Given the description of an element on the screen output the (x, y) to click on. 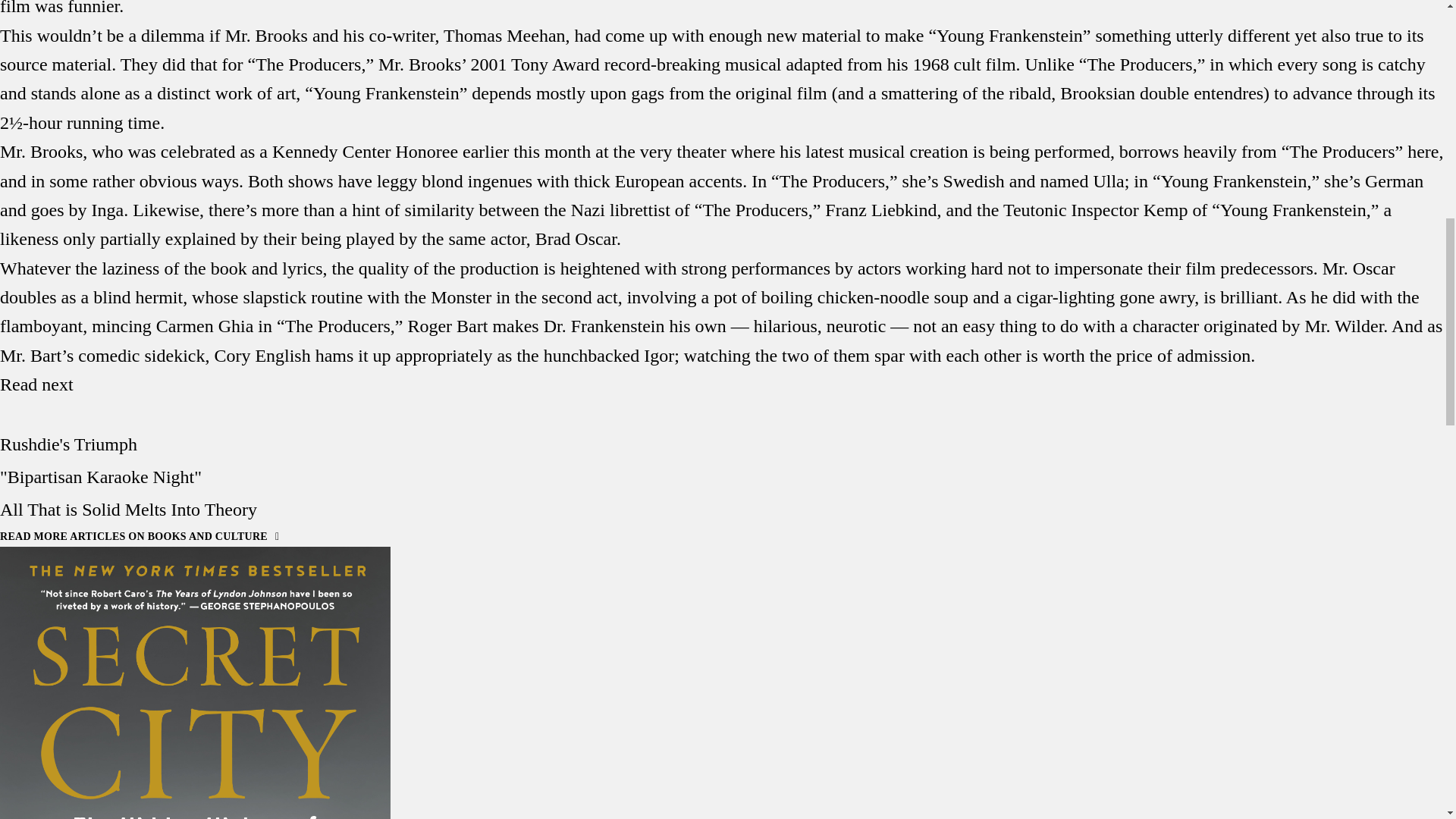
Rushdie's Triumph (68, 444)
"Bipartisan Karaoke Night" (101, 476)
Secret City (195, 683)
All That is Solid Melts Into Theory (128, 509)
READ MORE ARTICLES ON BOOKS AND CULTURE (139, 536)
